Given the description of an element on the screen output the (x, y) to click on. 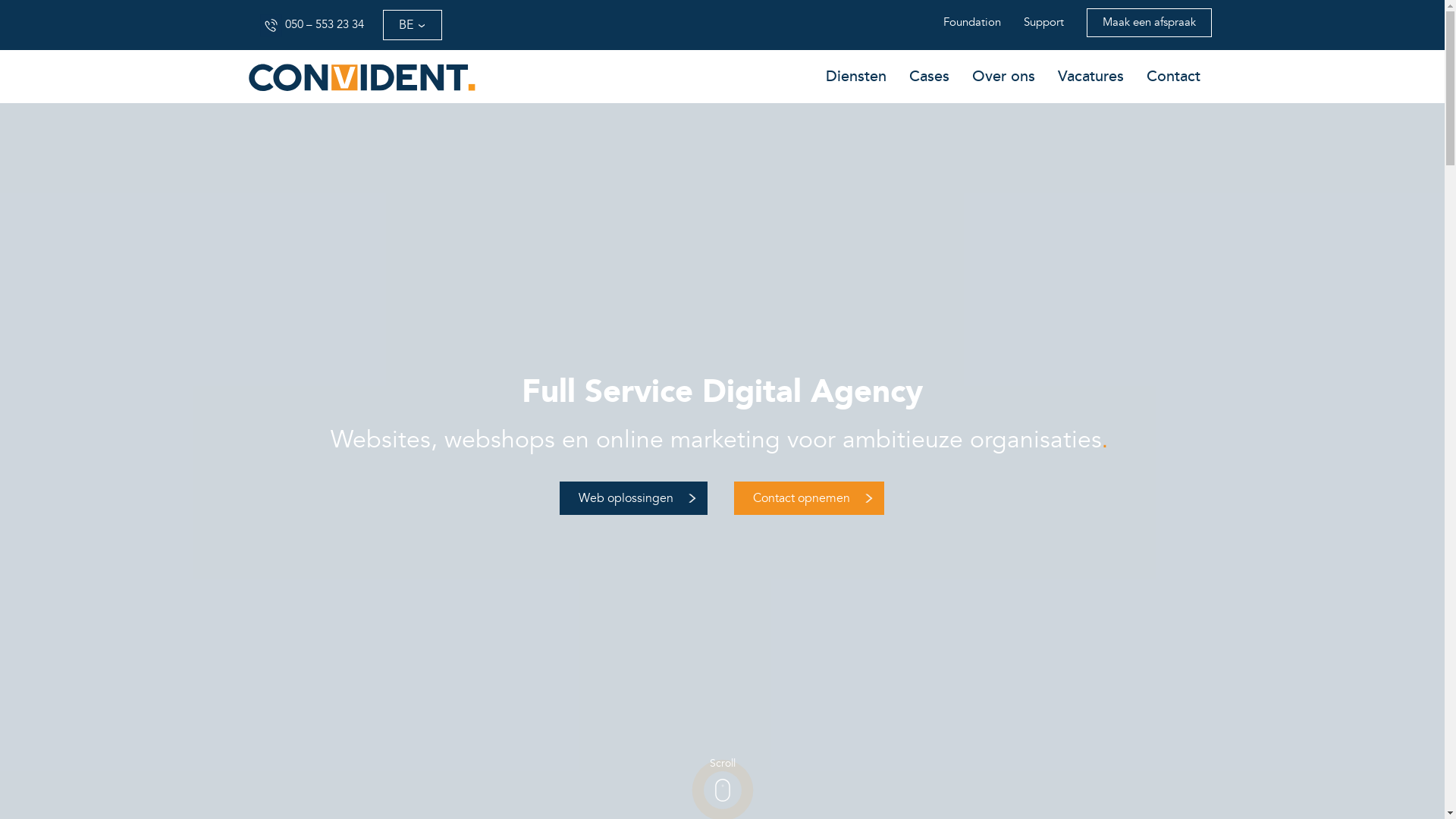
Maak een afspraak Element type: text (1148, 22)
Over ons Element type: text (1002, 76)
Foundation Element type: text (971, 22)
Scroll Element type: text (722, 789)
Contact Element type: text (1172, 76)
Web oplossingen Element type: text (633, 497)
Contact opnemen Element type: text (809, 497)
Vacatures Element type: text (1090, 76)
Diensten Element type: text (855, 76)
Support Element type: text (1042, 22)
Cases Element type: text (928, 76)
